Given the description of an element on the screen output the (x, y) to click on. 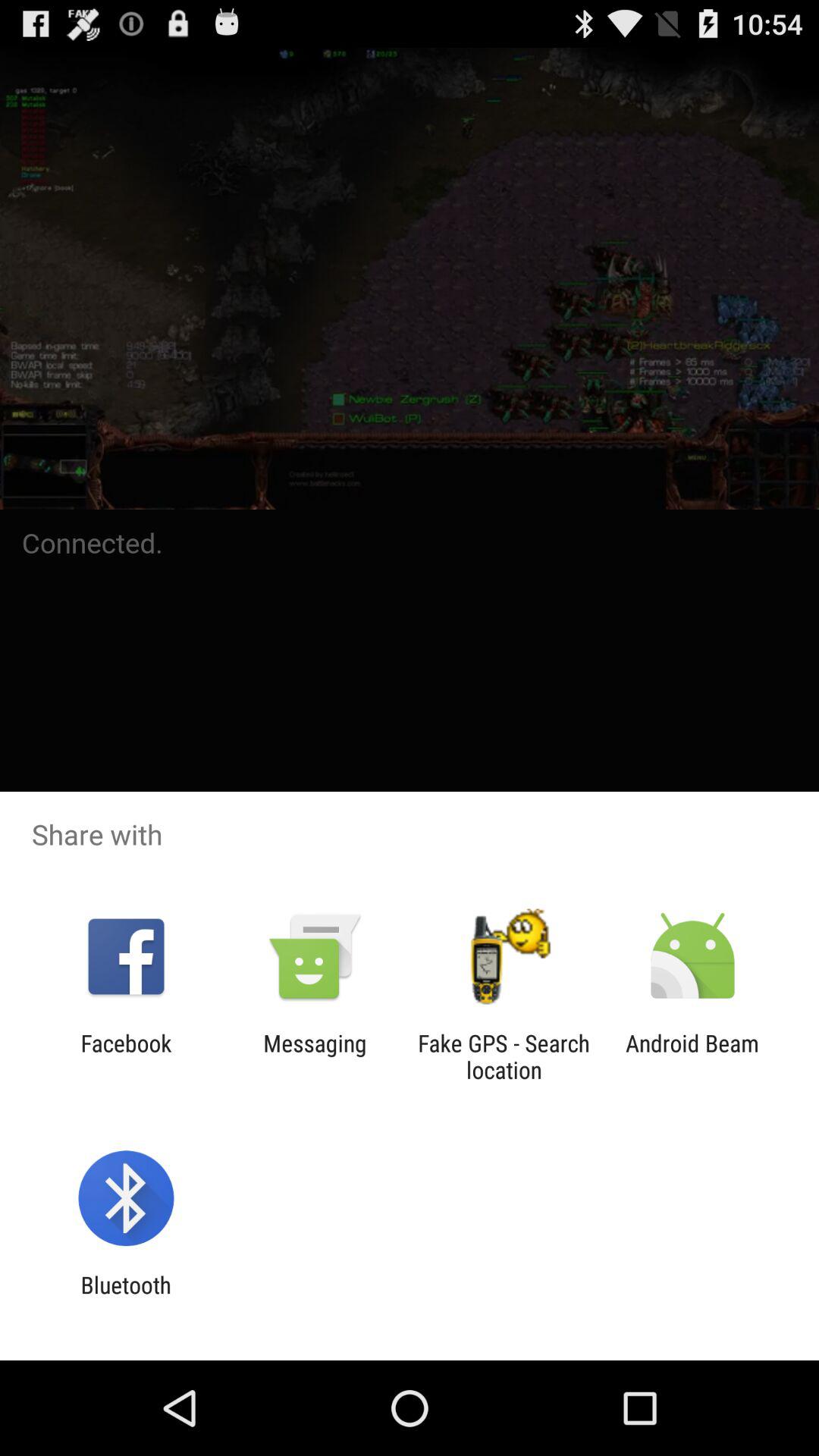
press item next to the fake gps search item (314, 1056)
